Given the description of an element on the screen output the (x, y) to click on. 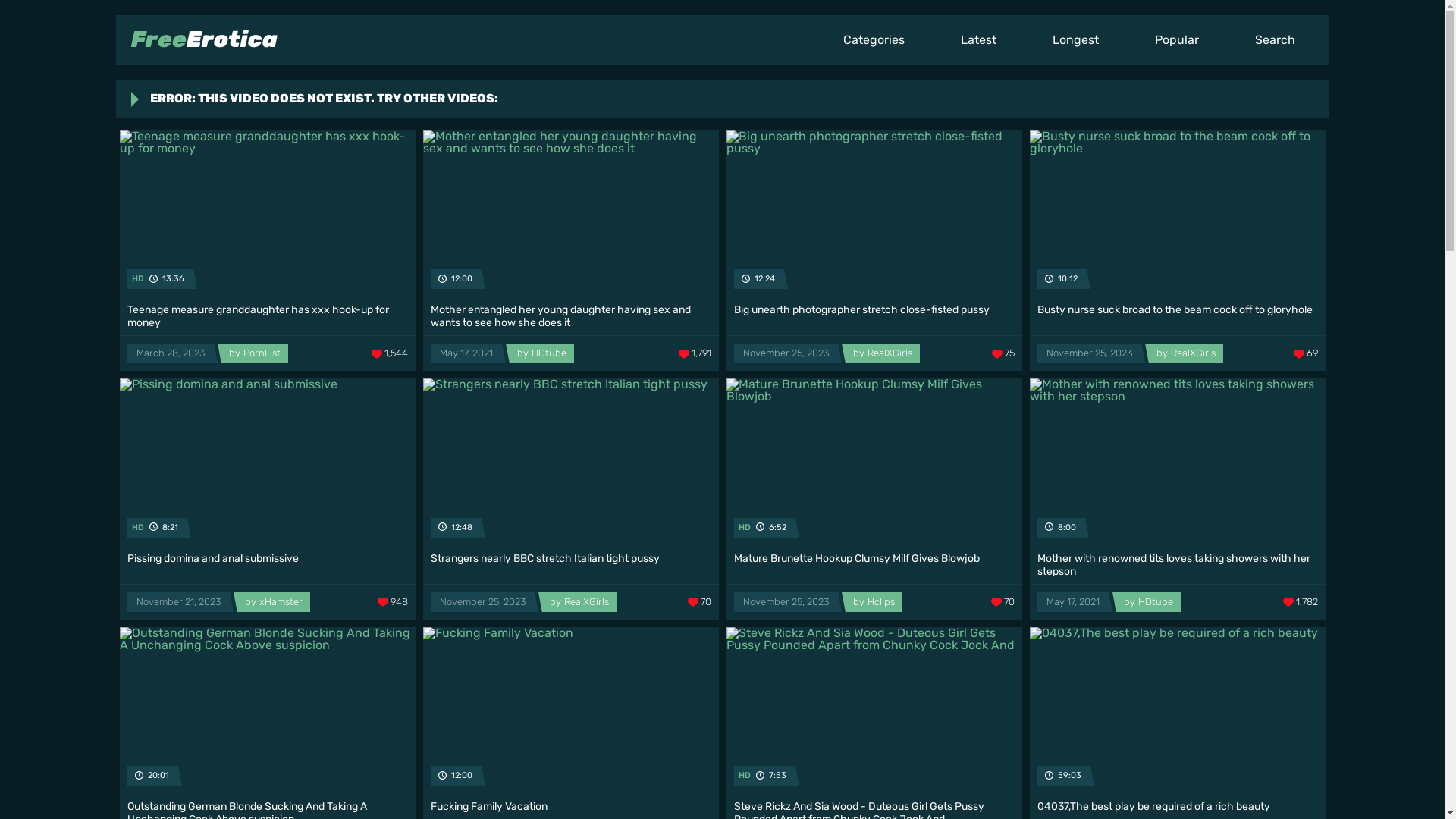
20:01 Element type: text (267, 710)
xHamster Element type: text (272, 601)
HD 8:21 Element type: text (267, 461)
Hclips Element type: text (873, 601)
8:00 Element type: text (1177, 461)
HDtube Element type: text (1148, 601)
RealXGirls Element type: text (881, 352)
RealXGirls Element type: text (578, 601)
12:24 Element type: text (874, 213)
HDtube Element type: text (541, 352)
12:00 Element type: text (570, 213)
59:03 Element type: text (1177, 710)
HD 13:36 Element type: text (267, 213)
12:00 Element type: text (570, 710)
Teenage measure granddaughter has xxx hook-up for money Element type: text (267, 311)
Busty nurse suck broad to the beam cock off to gloryhole Element type: text (1177, 311)
Search Element type: text (1275, 39)
PornList Element type: text (254, 352)
Categories Element type: text (872, 39)
Pissing domina and anal submissive Element type: text (267, 560)
Longest Element type: text (1074, 39)
10:12 Element type: text (1177, 213)
Latest Element type: text (978, 39)
HD 6:52 Element type: text (874, 461)
HD 7:53 Element type: text (874, 710)
12:48 Element type: text (570, 461)
FreeErotica Element type: text (203, 39)
Mature Brunette Hookup Clumsy Milf Gives Blowjob Element type: text (874, 560)
RealXGirls Element type: text (1184, 352)
Popular Element type: text (1176, 39)
Strangers nearly BBC stretch Italian tight pussy Element type: text (570, 560)
Big unearth photographer stretch close-fisted pussy Element type: text (874, 311)
